Given the description of an element on the screen output the (x, y) to click on. 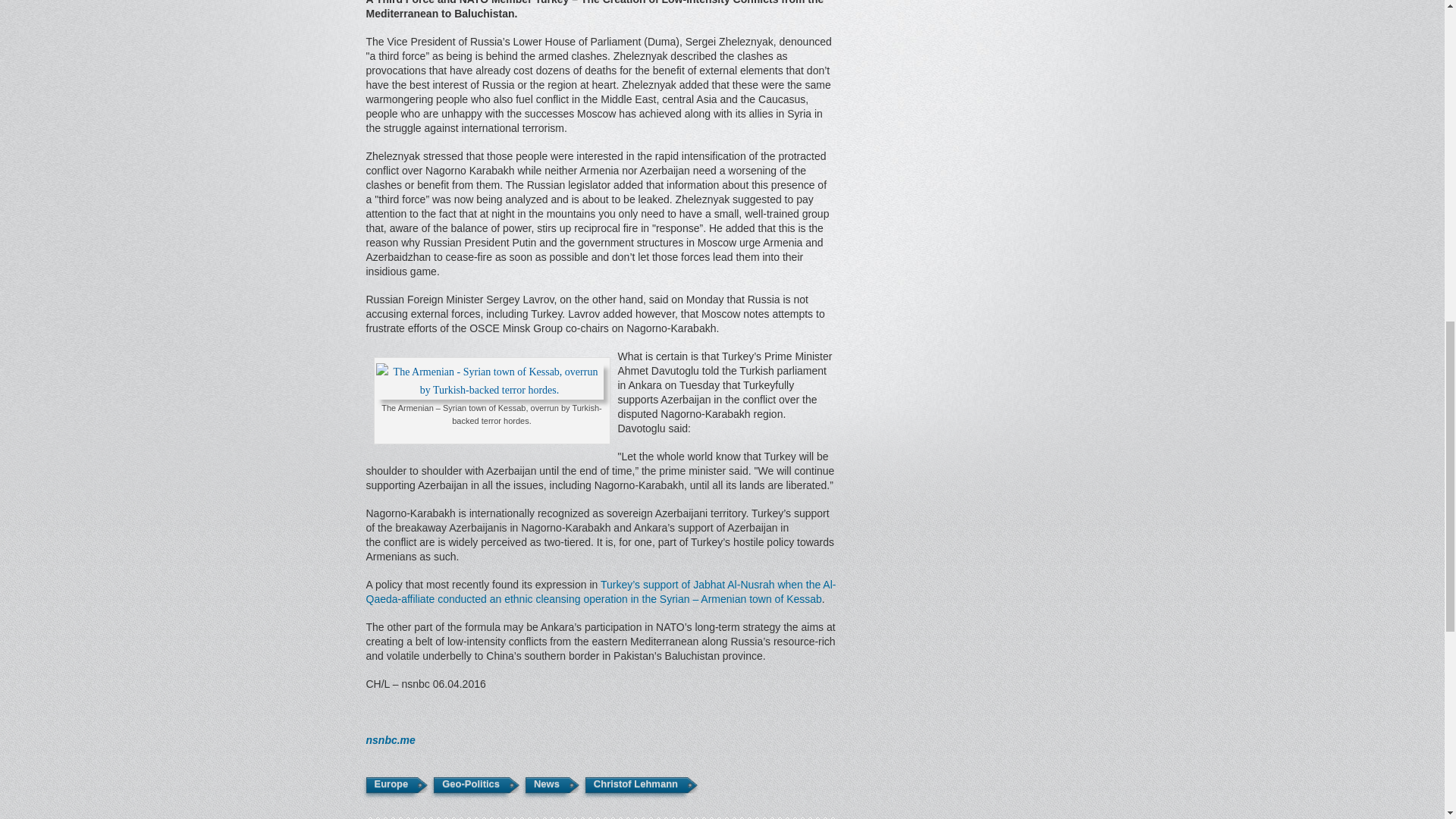
Christof Lehmann (635, 785)
Geo-Politics (469, 785)
Europe (389, 785)
nsnbc.me (389, 739)
News (546, 785)
